Given the description of an element on the screen output the (x, y) to click on. 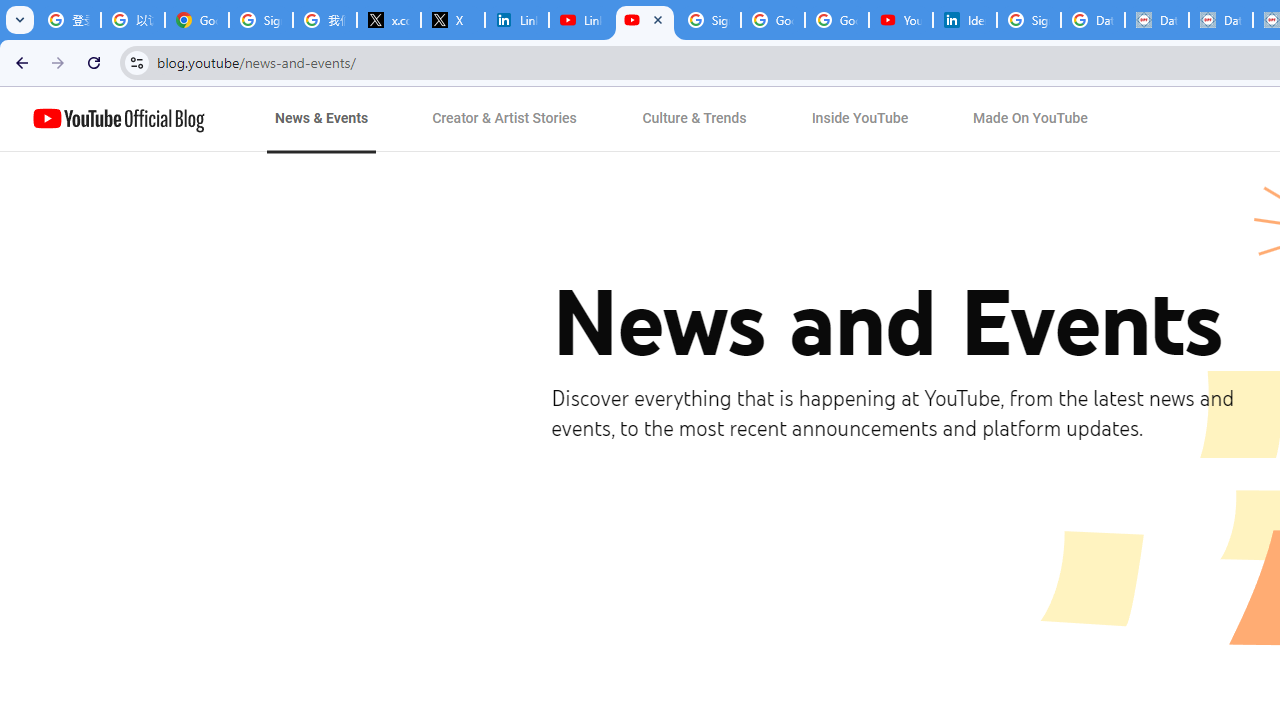
LinkedIn Privacy Policy (517, 20)
X (453, 20)
Made On YouTube (1030, 119)
LinkedIn - YouTube (581, 20)
